Given the description of an element on the screen output the (x, y) to click on. 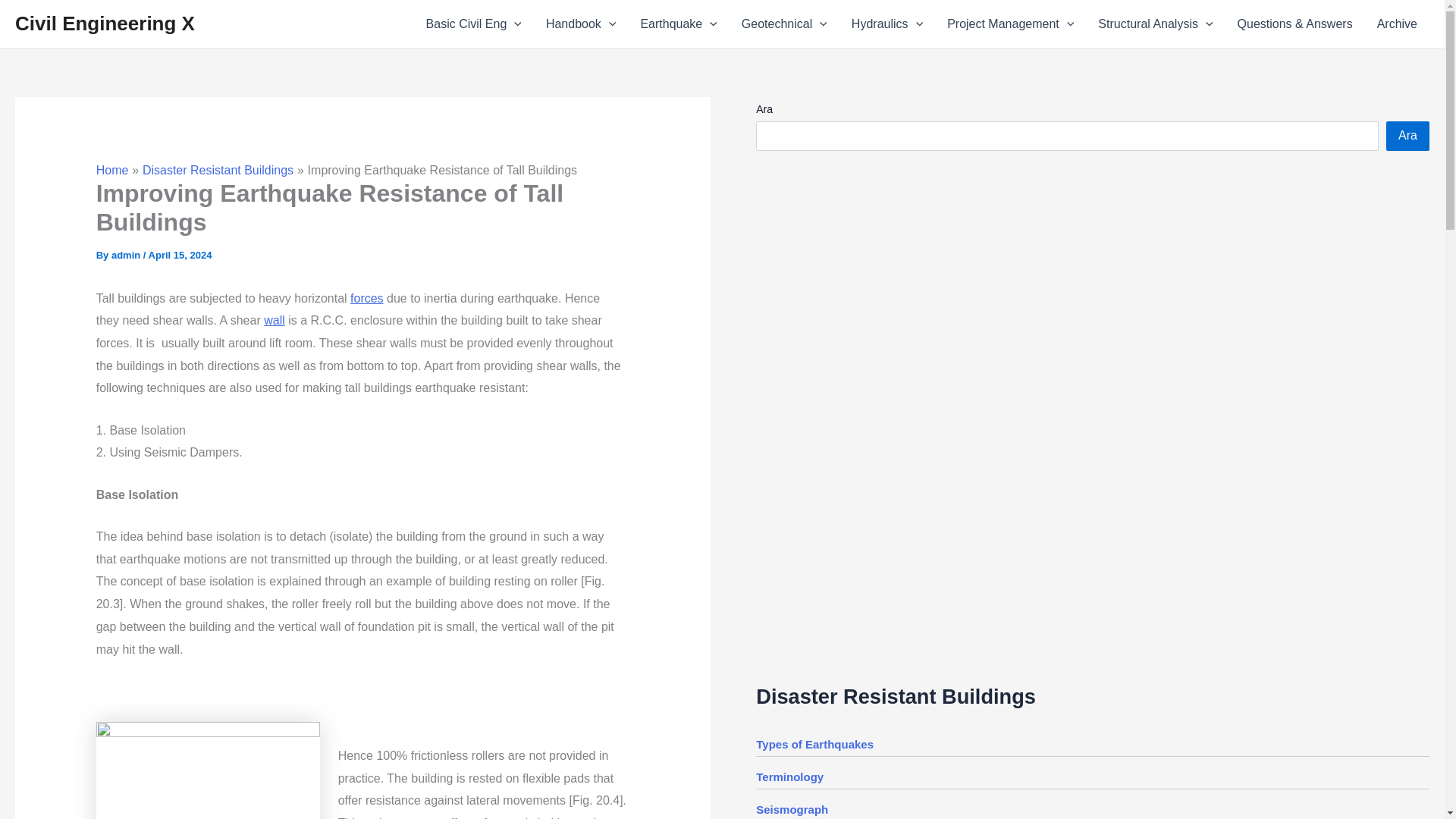
Terminology (789, 776)
Seismograph (791, 809)
View all posts by admin (127, 255)
Handbook (581, 23)
forces (367, 297)
Types of Earthquakes (814, 744)
Basic Civil Eng (473, 23)
wall (274, 319)
Civil Engineering X (104, 23)
Hypothetical building (208, 770)
